Given the description of an element on the screen output the (x, y) to click on. 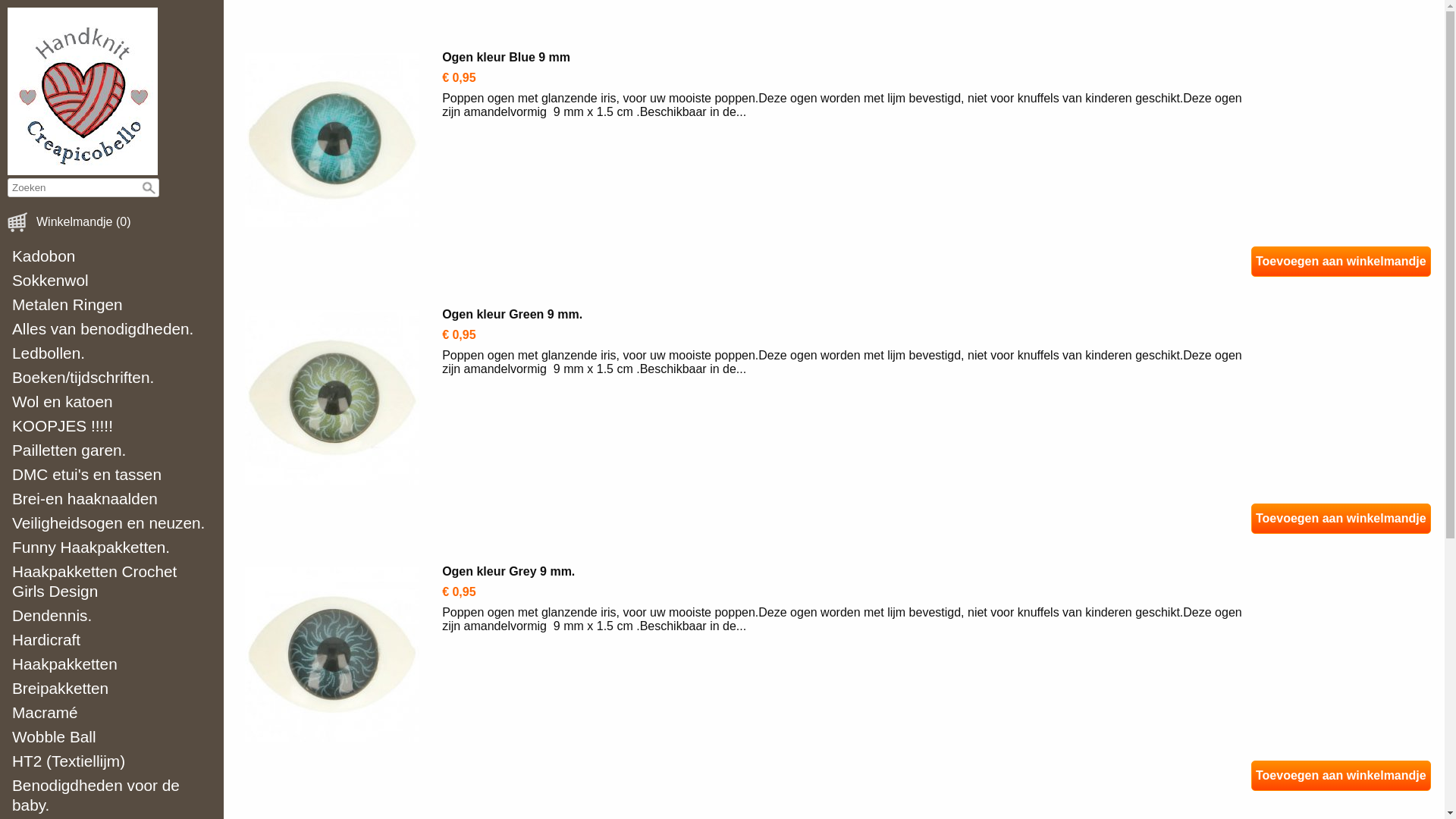
Hardicraft Element type: text (111, 639)
Funny Haakpakketten. Element type: text (111, 547)
Pailletten garen. Element type: text (111, 450)
Winkelmandje (0) Element type: text (83, 222)
Toevoegen aan winkelmandje Element type: text (1340, 261)
Ledbollen. Element type: text (111, 353)
KOOPJES !!!!! Element type: text (111, 426)
Benodigdheden voor de baby. Element type: text (111, 795)
Kadobon Element type: text (111, 256)
Toevoegen aan winkelmandje Element type: text (1340, 518)
DMC etui's en tassen Element type: text (111, 474)
Brei-en haaknaalden Element type: text (111, 498)
Breipakketten Element type: text (111, 688)
Alles van benodigdheden. Element type: text (111, 328)
Boeken/tijdschriften. Element type: text (111, 377)
Metalen Ringen Element type: text (111, 304)
Toevoegen aan winkelmandje Element type: text (1340, 775)
HT2 (Textiellijm) Element type: text (111, 761)
Wol en katoen Element type: text (111, 401)
Haakpakketten Crochet Girls Design Element type: text (111, 581)
Sokkenwol Element type: text (111, 280)
Dendennis. Element type: text (111, 615)
Wobble Ball Element type: text (111, 736)
Haakpakketten Element type: text (111, 664)
Veiligheidsogen en neuzen. Element type: text (111, 523)
